Given the description of an element on the screen output the (x, y) to click on. 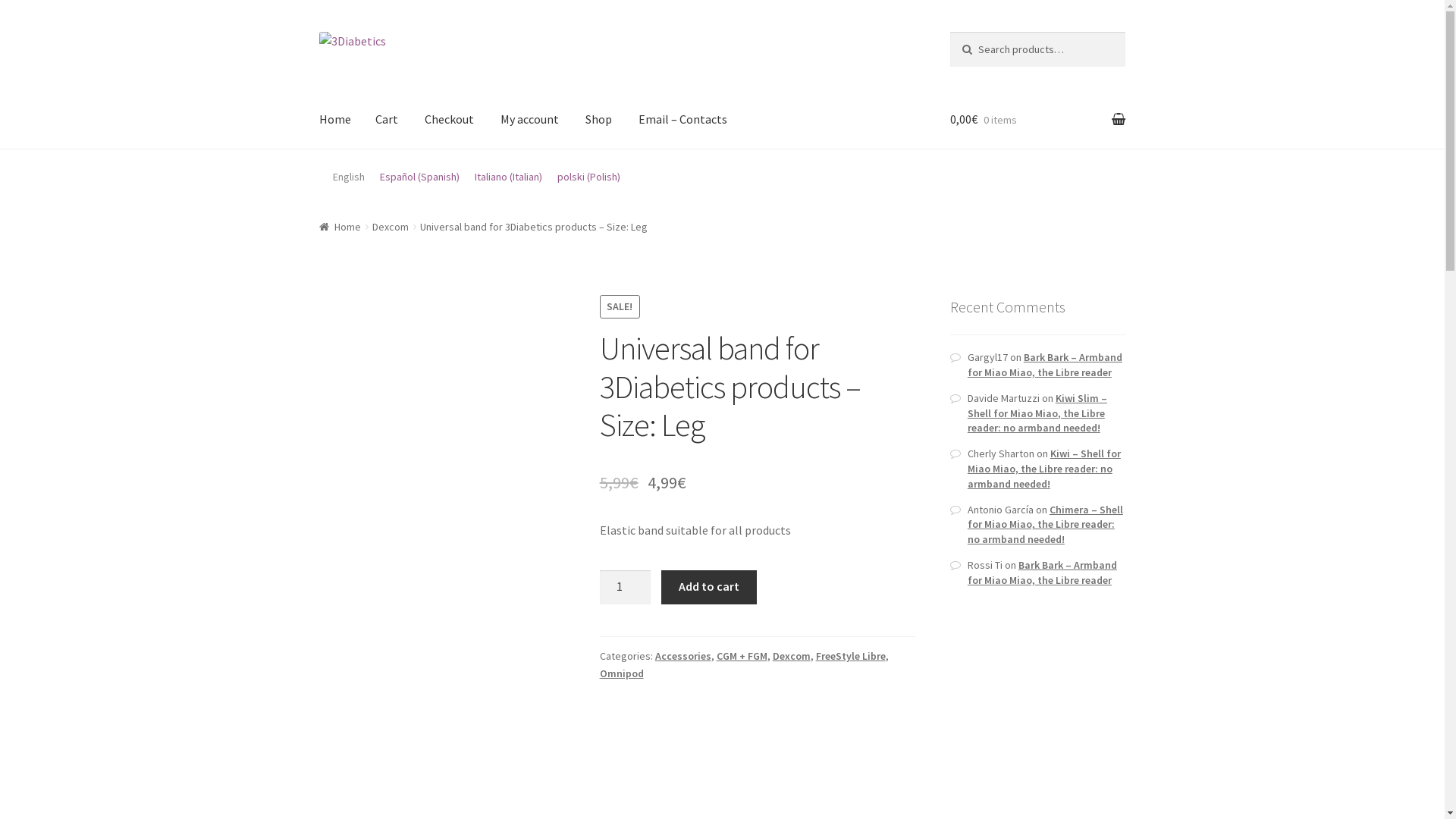
FreeStyle Libre Element type: text (850, 655)
CGM + FGM Element type: text (741, 655)
Cart Element type: text (386, 119)
Dexcom Element type: text (390, 226)
Add to cart Element type: text (708, 587)
Italiano (Italian) Element type: text (508, 176)
Home Element type: text (340, 226)
Skip to navigation Element type: text (318, 31)
Shop Element type: text (598, 119)
polski (Polish) Element type: text (588, 176)
Dexcom Element type: text (791, 655)
My account Element type: text (529, 119)
Accessories Element type: text (683, 655)
Omnipod Element type: text (621, 673)
English Element type: text (348, 176)
Home Element type: text (335, 119)
Search Element type: text (981, 46)
Checkout Element type: text (449, 119)
